Given the description of an element on the screen output the (x, y) to click on. 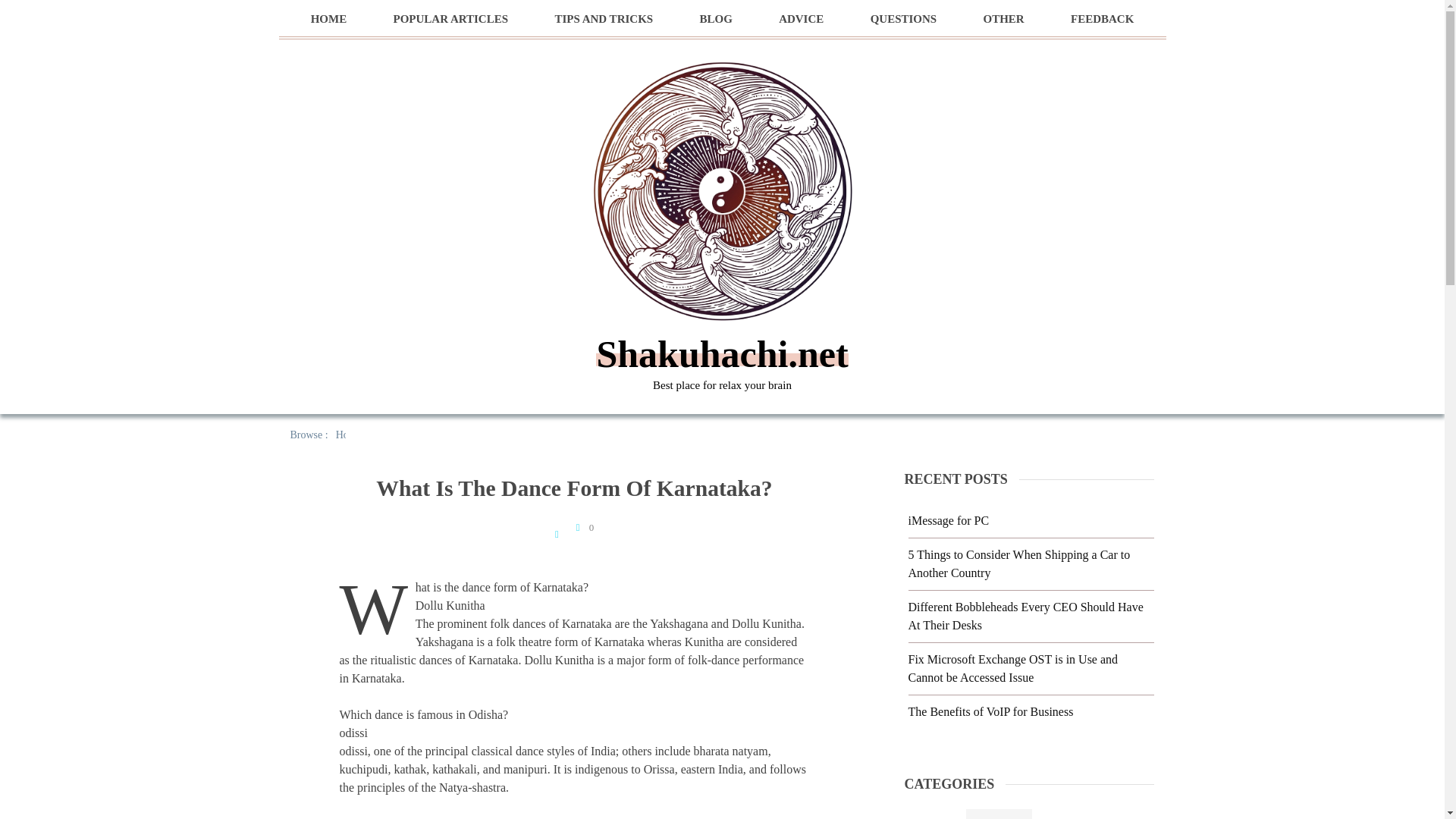
5 Things to Consider When Shipping a Car to Another Country (1019, 563)
FEEDBACK (1101, 19)
HOME (328, 19)
Home (348, 434)
Blog (999, 814)
ADVICE (801, 19)
TIPS AND TRICKS (603, 19)
POPULAR ARTICLES (450, 19)
Shakuhachi.net (721, 353)
OTHER (1003, 19)
BLOG (715, 19)
QUESTIONS (904, 19)
iMessage for PC (949, 520)
Different Bobbleheads Every CEO Should Have At Their Desks (1025, 615)
